Given the description of an element on the screen output the (x, y) to click on. 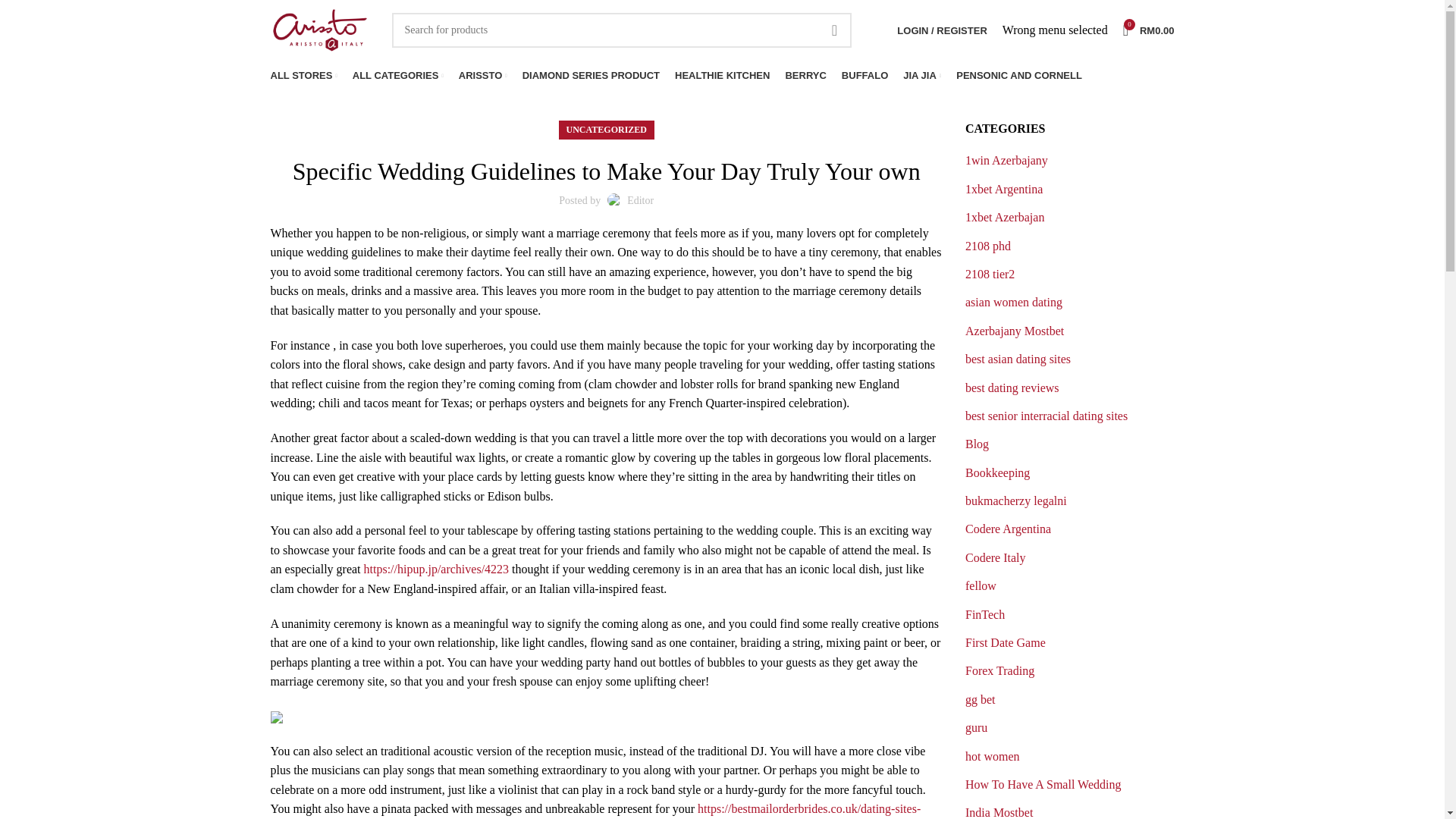
ALL STORES (302, 75)
My account (941, 30)
Shopping cart (1148, 30)
Search for products (1148, 30)
Log in (621, 30)
SEARCH (861, 278)
